Given the description of an element on the screen output the (x, y) to click on. 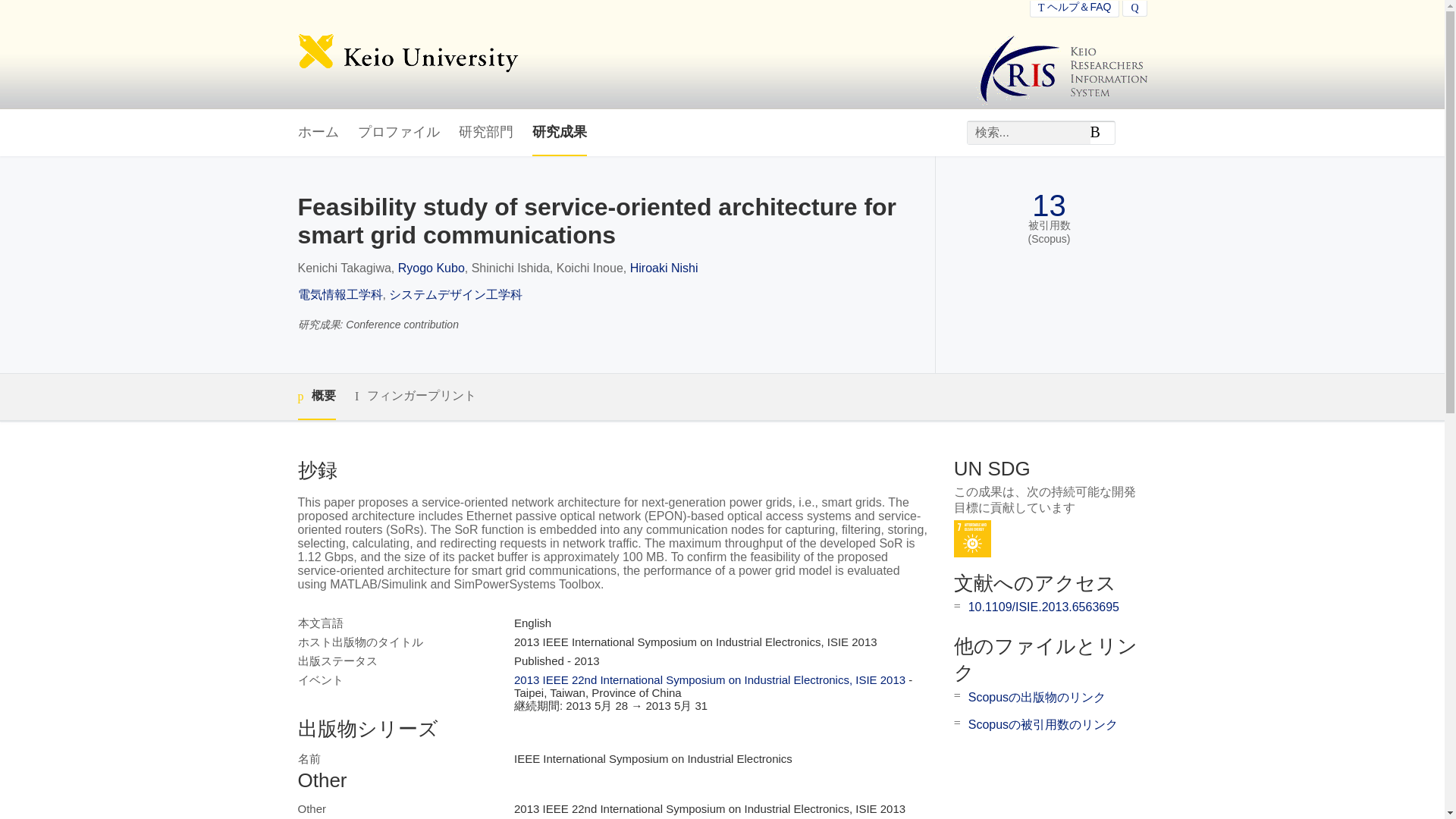
Ryogo Kubo (430, 267)
13 (1048, 205)
Hiroaki Nishi (664, 267)
